Given the description of an element on the screen output the (x, y) to click on. 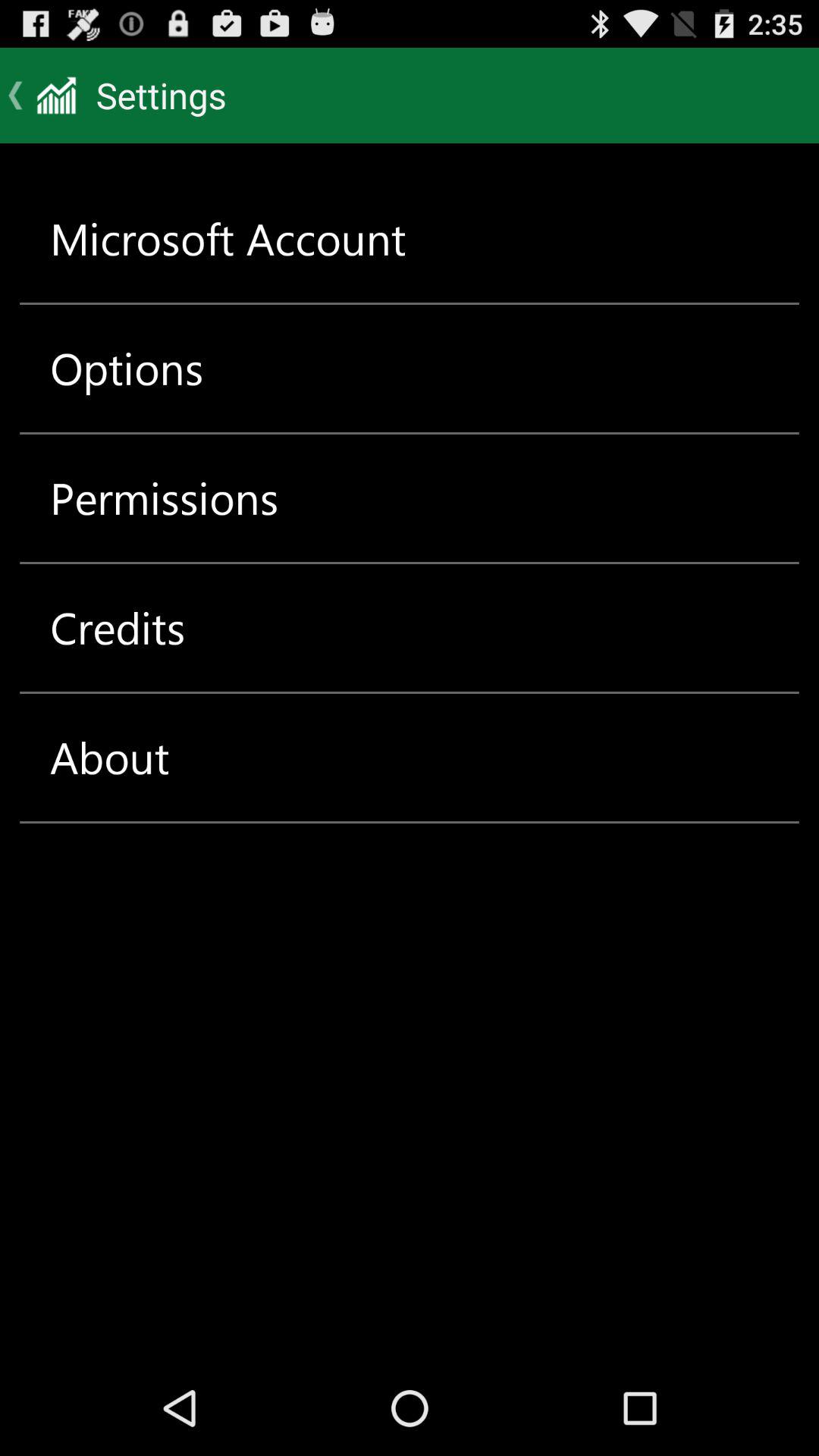
turn off icon above the options icon (228, 238)
